Given the description of an element on the screen output the (x, y) to click on. 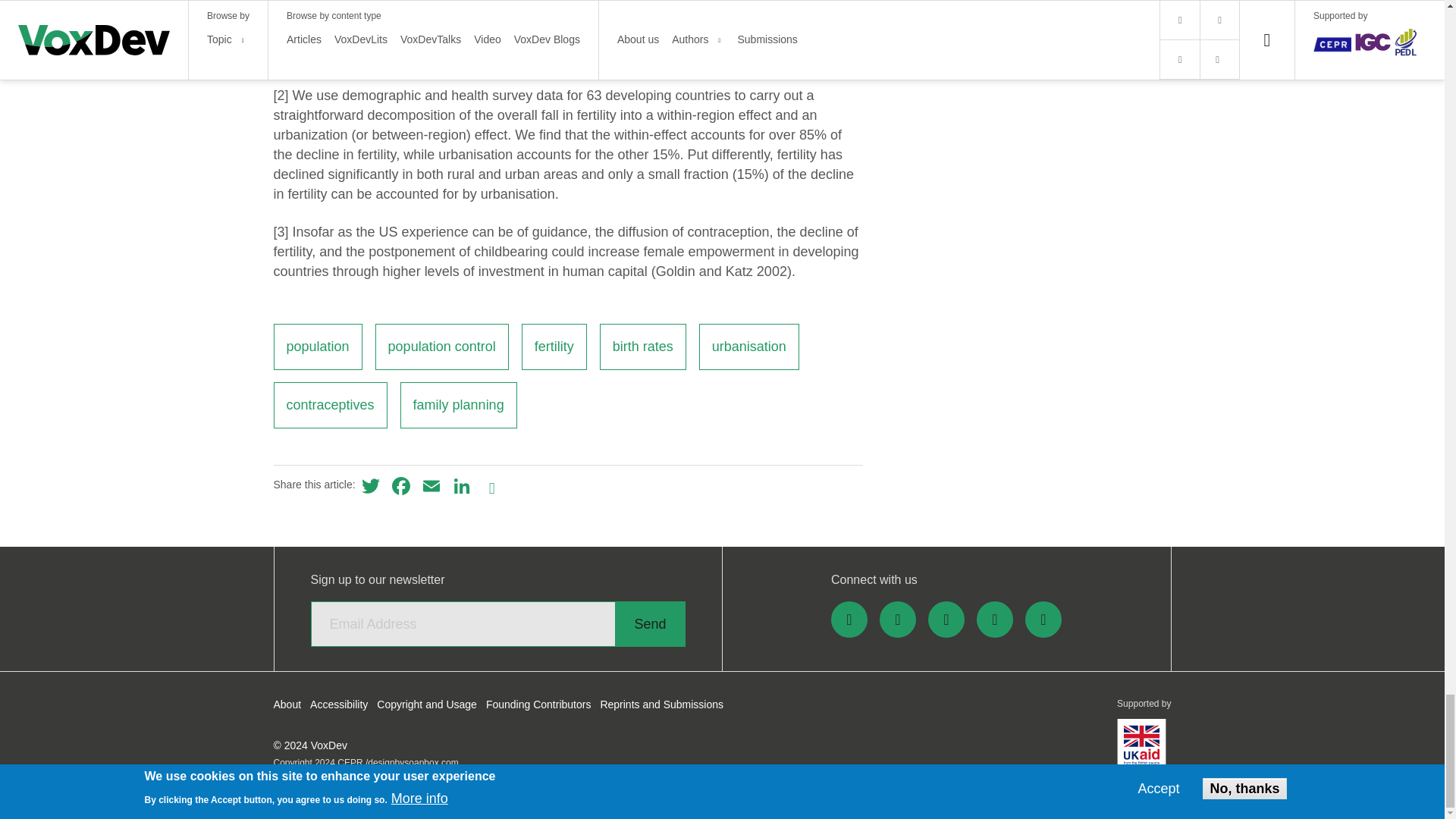
birth rates (642, 346)
Send (649, 624)
population control (441, 346)
fertility (553, 346)
population (317, 346)
